Given the description of an element on the screen output the (x, y) to click on. 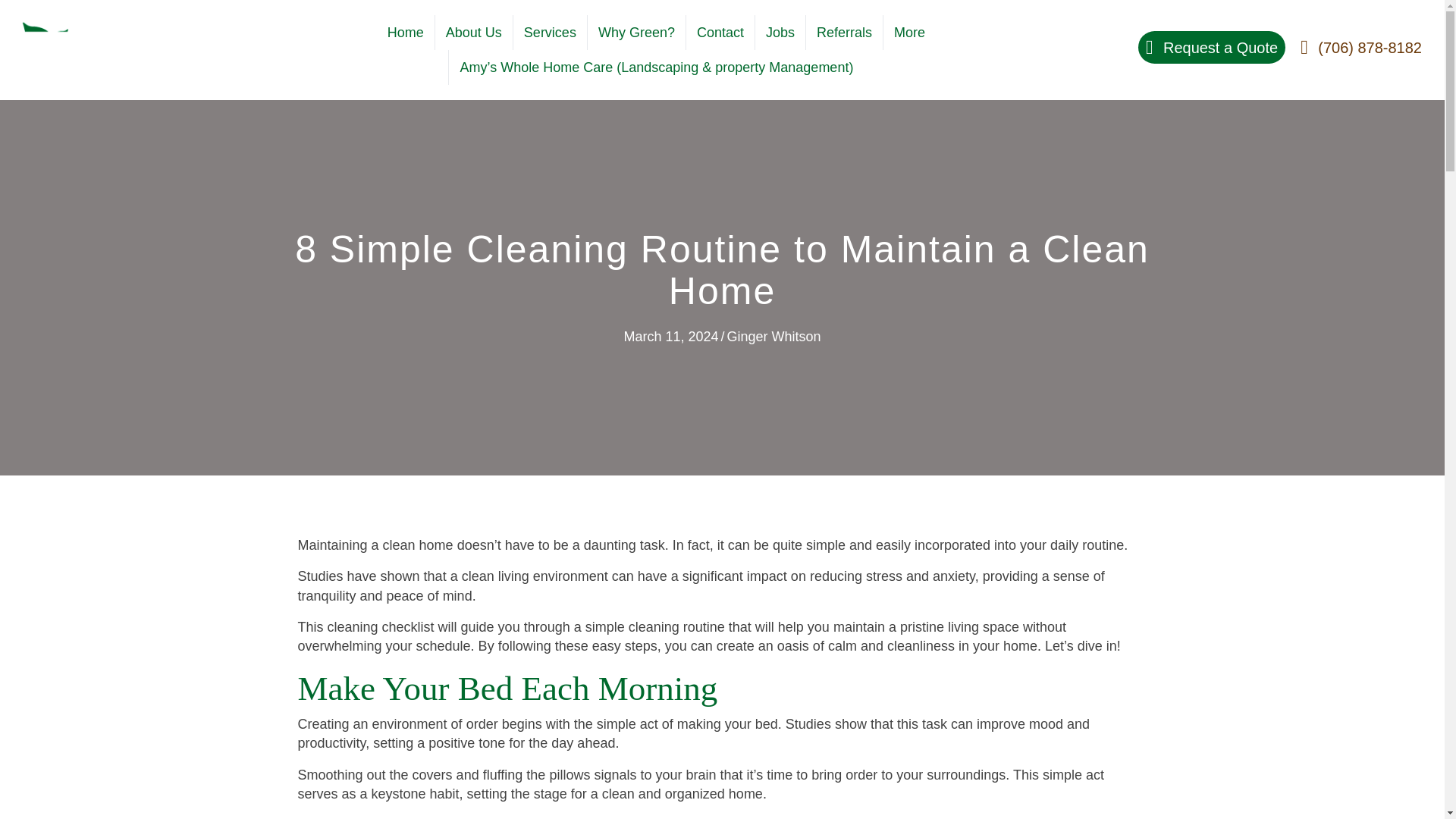
Home (405, 32)
More (909, 32)
Ginger Whitson (773, 336)
About Us (473, 32)
Referrals (844, 32)
Jobs (780, 32)
Why Green? (636, 32)
Services (549, 32)
Amy's Green Cleaning Logo (88, 50)
Contact (719, 32)
Request a Quote (1211, 47)
